Given the description of an element on the screen output the (x, y) to click on. 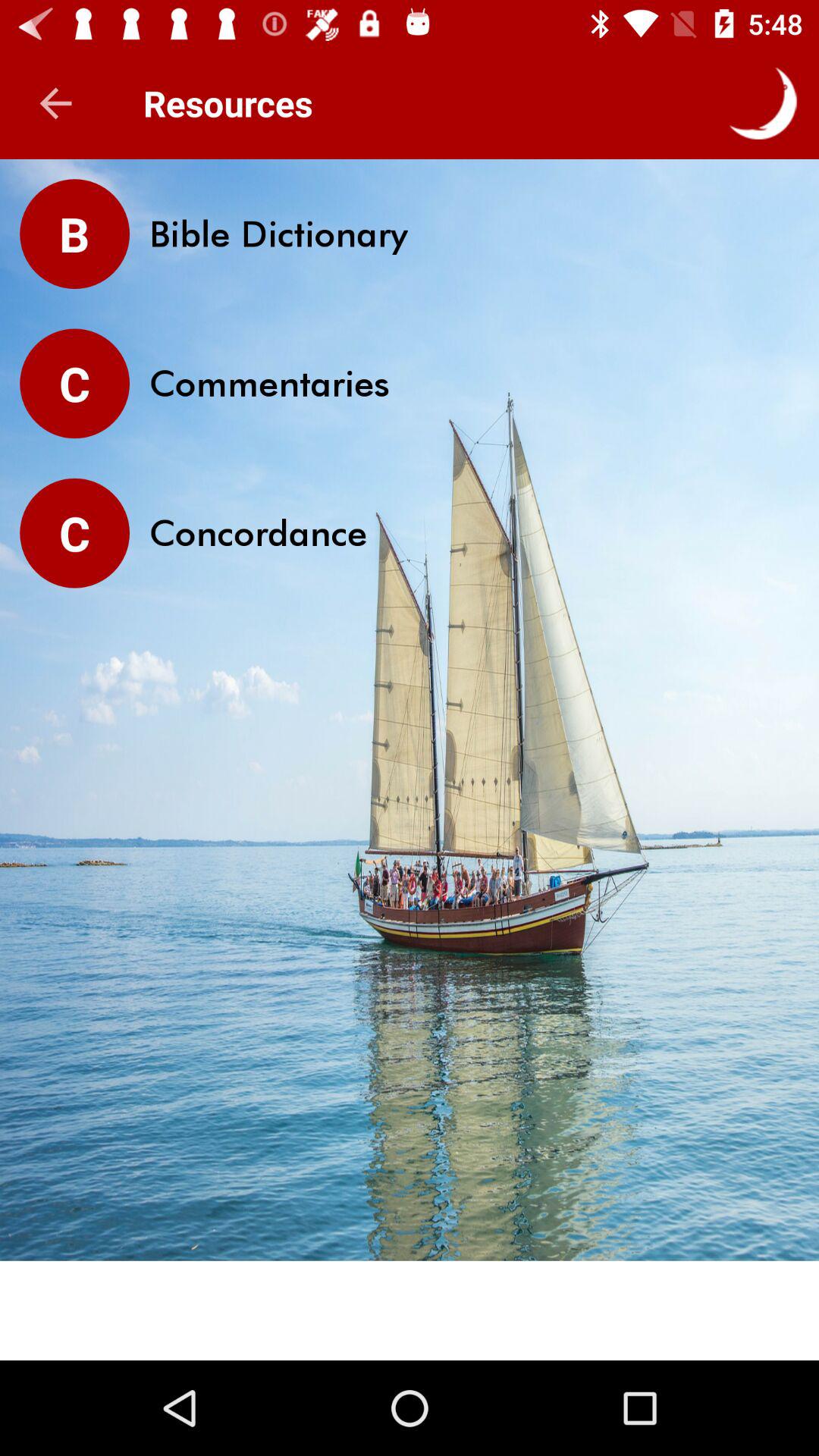
go to previous (55, 103)
